Given the description of an element on the screen output the (x, y) to click on. 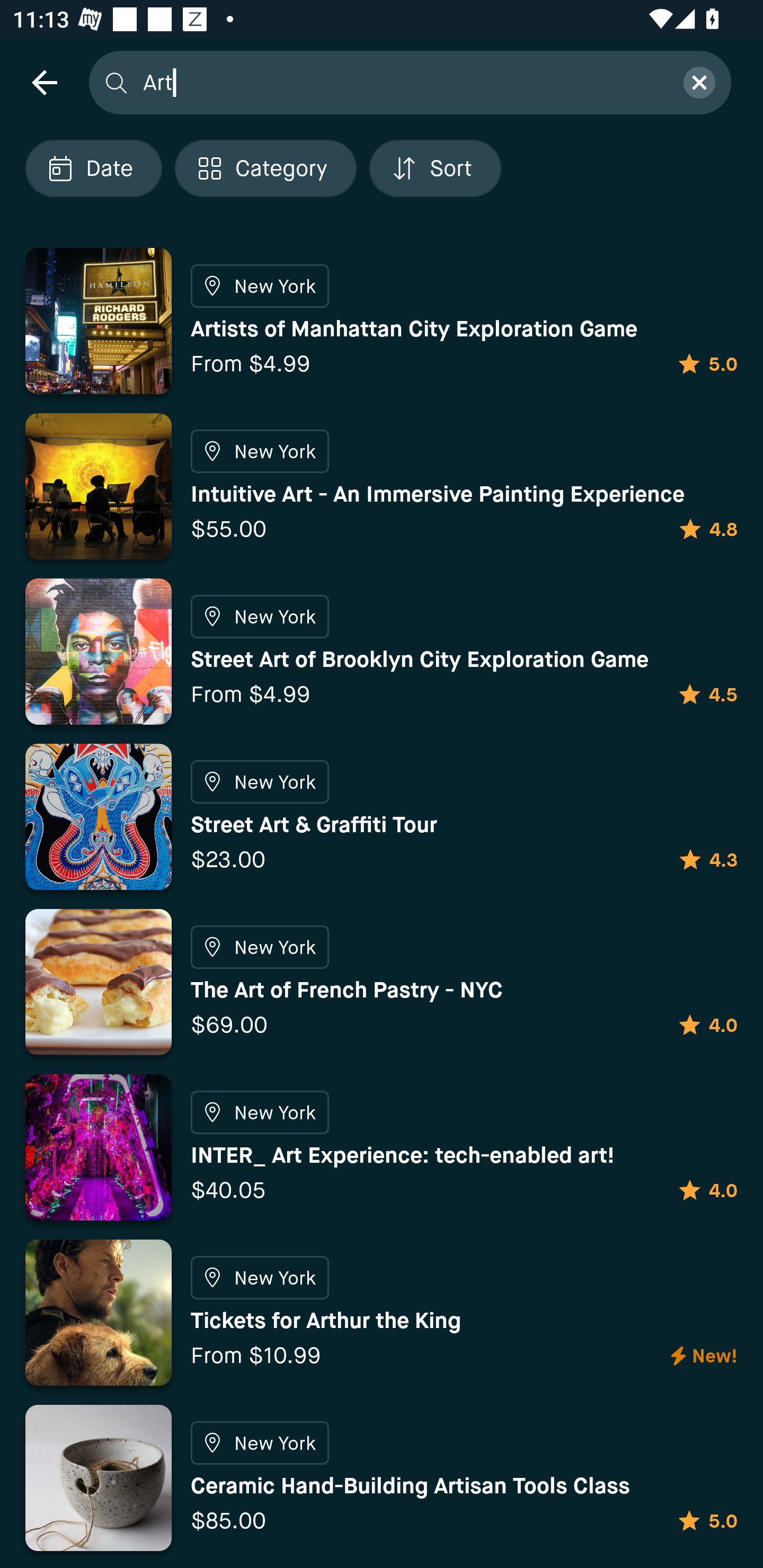
navigation icon (44, 81)
Art (402, 81)
Localized description Date (93, 168)
Localized description Category (265, 168)
Localized description Sort (435, 168)
